Given the description of an element on the screen output the (x, y) to click on. 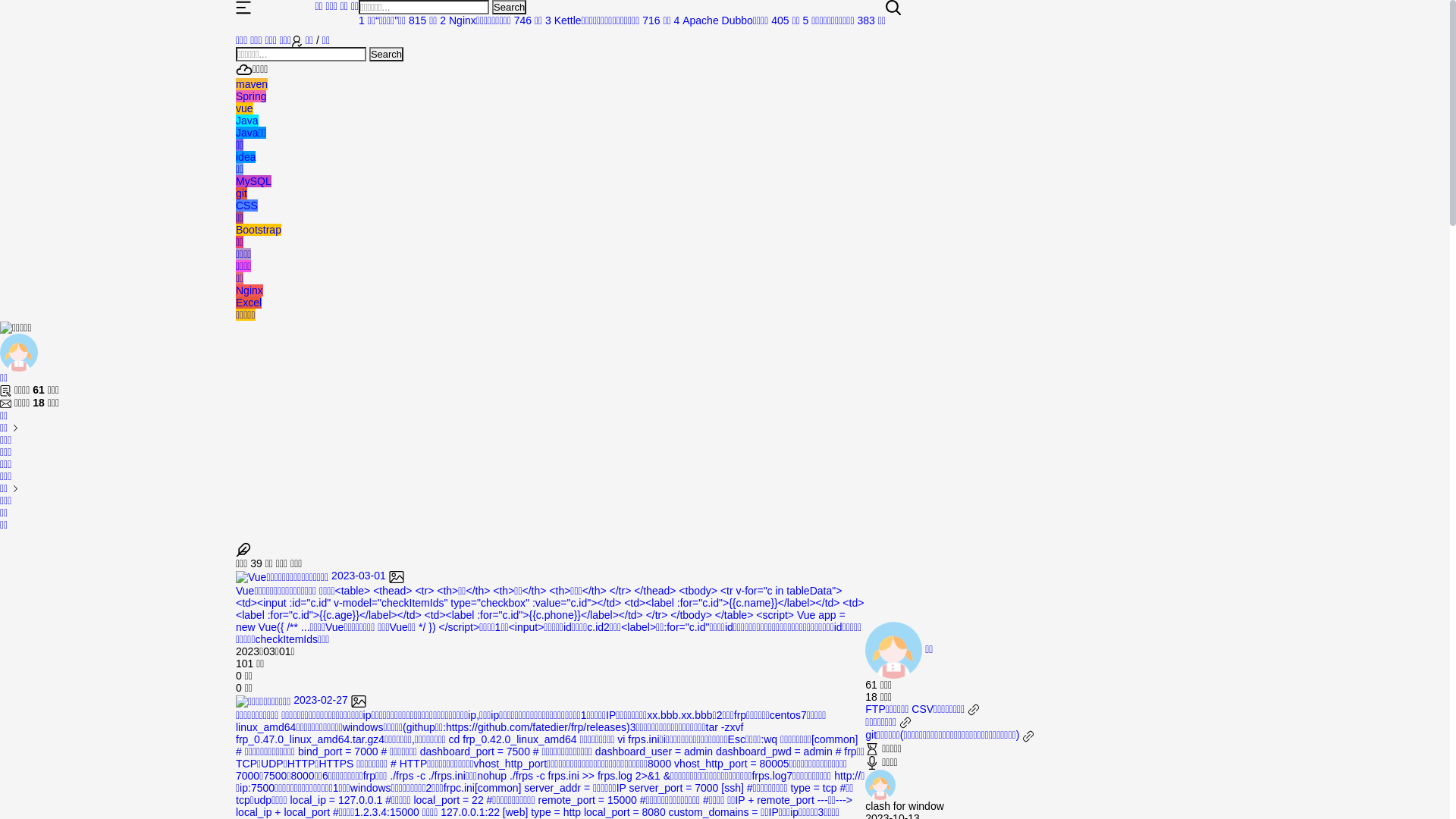
MySQL Element type: text (253, 181)
Search Element type: text (386, 54)
idea Element type: text (245, 156)
2023-02-27 Element type: text (300, 699)
Bootstrap Element type: text (258, 229)
maven Element type: text (251, 84)
vue Element type: text (244, 108)
Spring Element type: text (250, 96)
git Element type: text (241, 193)
CSS Element type: text (246, 205)
2023-03-01 Element type: text (319, 575)
Search Element type: text (509, 7)
Java Element type: text (246, 120)
Excel Element type: text (248, 302)
Nginx Element type: text (249, 290)
